Given the description of an element on the screen output the (x, y) to click on. 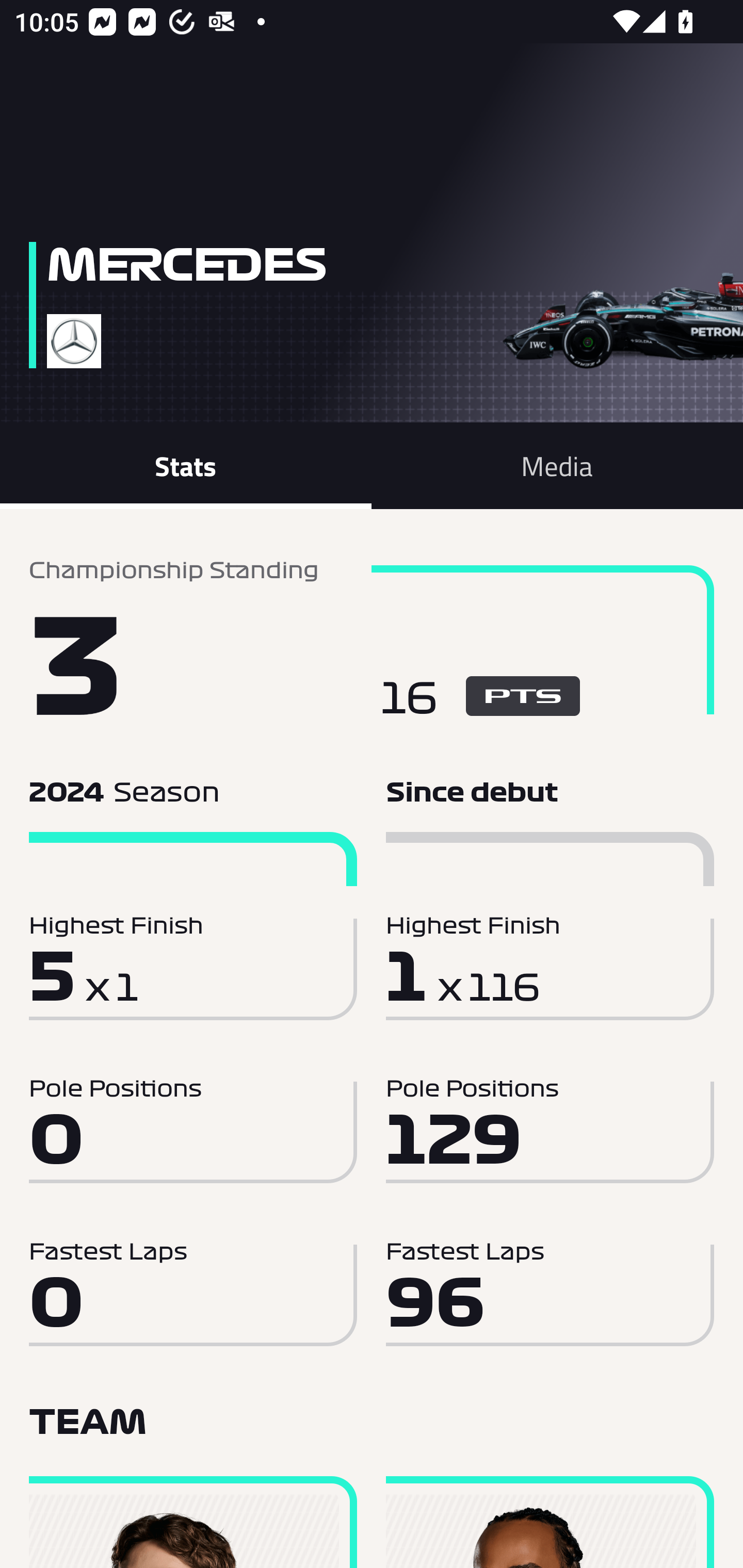
Media (557, 465)
